Given the description of an element on the screen output the (x, y) to click on. 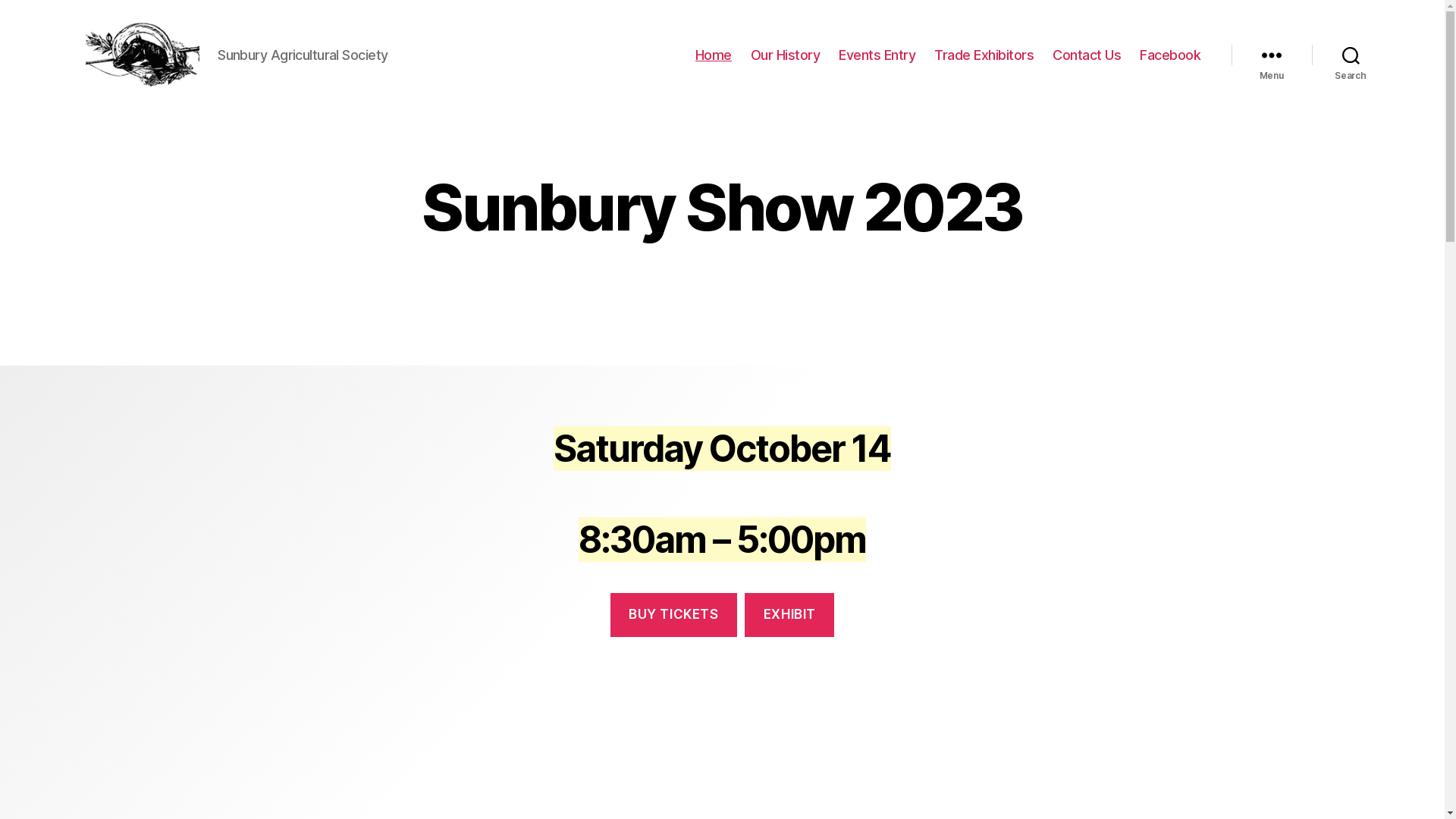
Menu Element type: text (1271, 55)
Trade Exhibitors Element type: text (983, 55)
Home Element type: text (713, 55)
Our History Element type: text (785, 55)
Events Entry Element type: text (876, 55)
Facebook Element type: text (1169, 55)
Search Element type: text (1350, 55)
Contact Us Element type: text (1086, 55)
BUY TICKETS Element type: text (673, 615)
EXHIBIT Element type: text (789, 615)
